Given the description of an element on the screen output the (x, y) to click on. 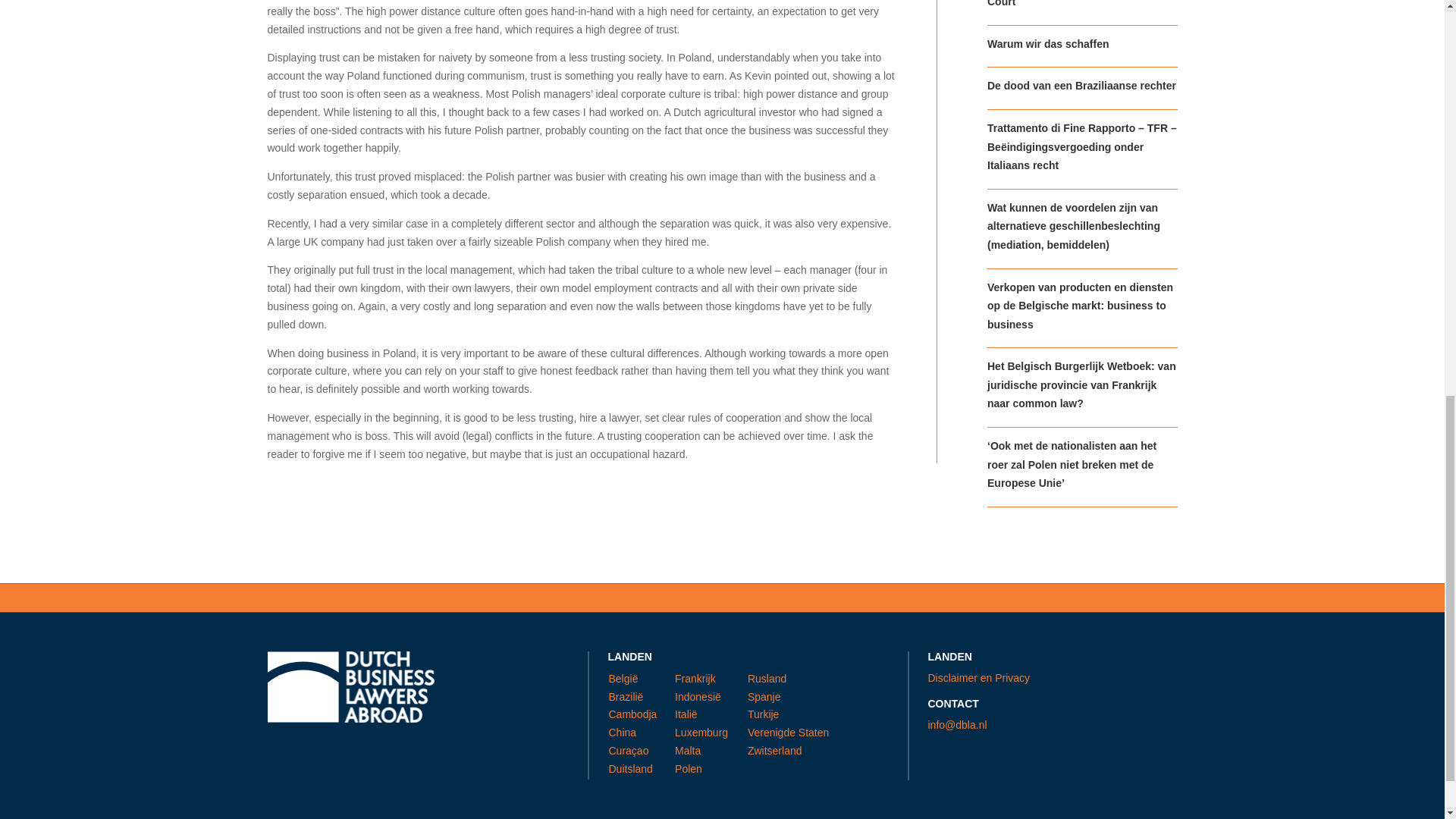
De dood van een Braziliaanse rechter (1081, 85)
Warum wir das schaffen (1048, 43)
Brussels International Business Court (1067, 4)
